Given the description of an element on the screen output the (x, y) to click on. 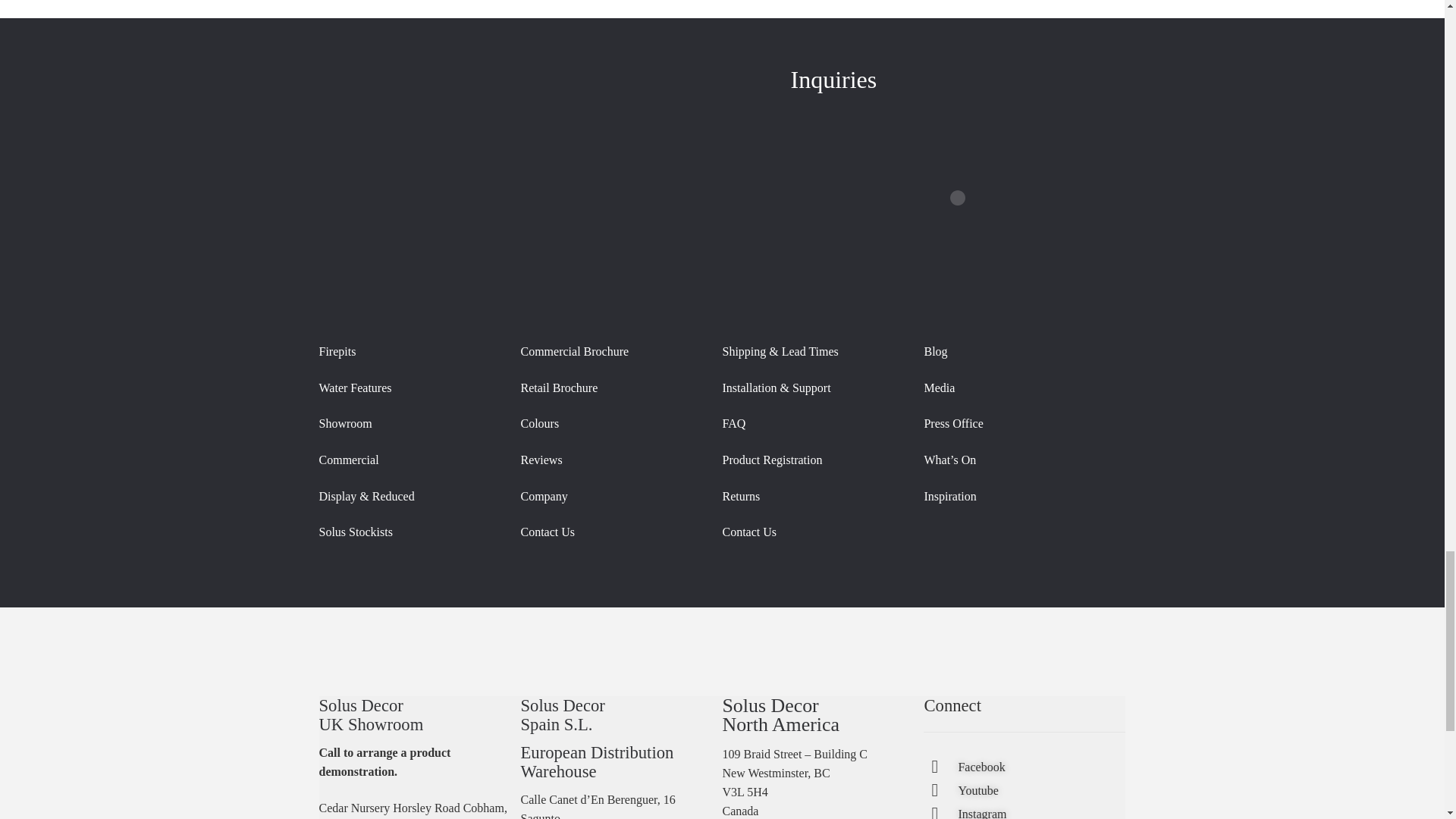
Showroom (345, 422)
Commercial (348, 459)
Firepits (337, 350)
Water Features (354, 387)
